Given the description of an element on the screen output the (x, y) to click on. 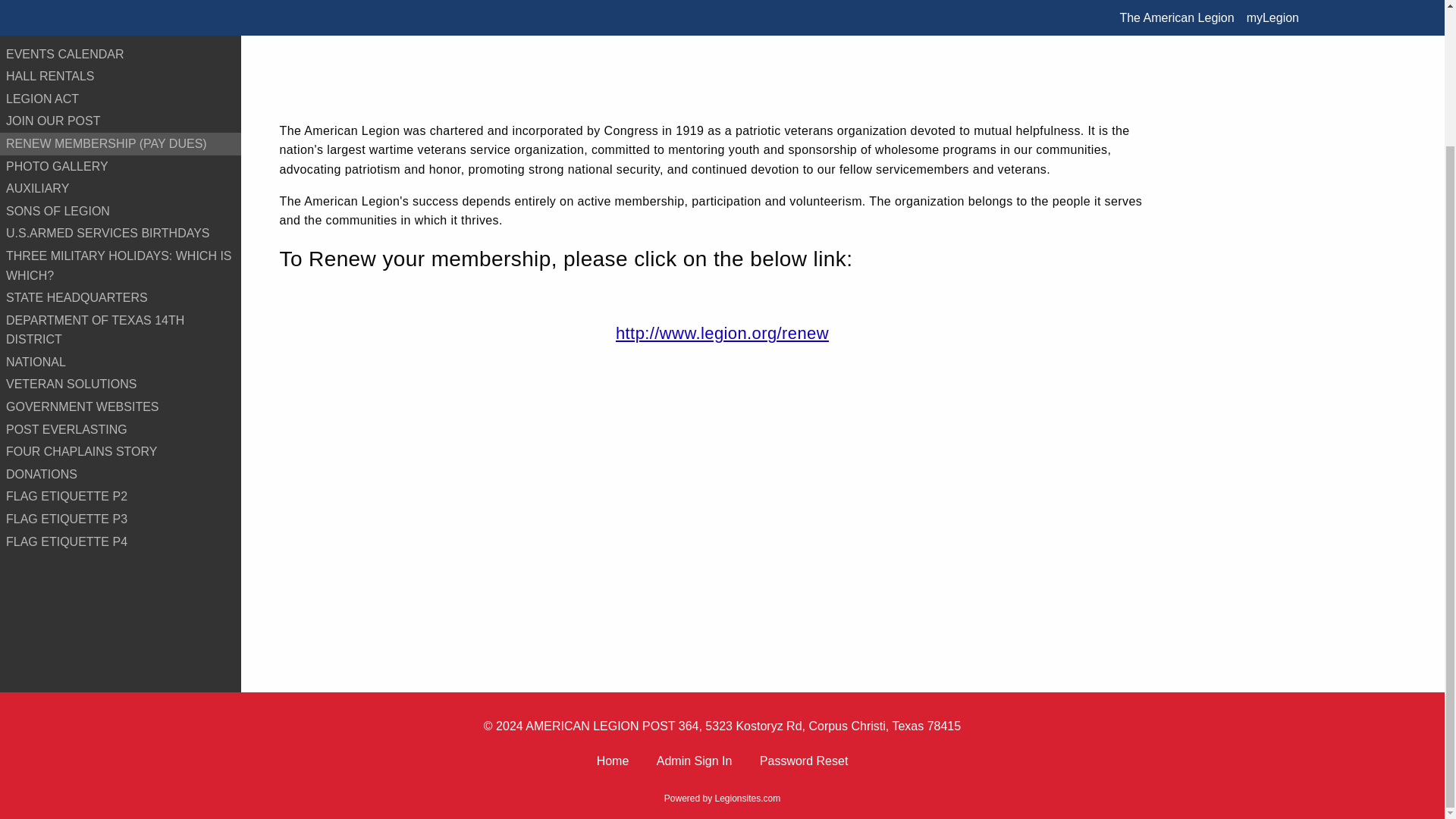
LEGION ACT (120, 98)
HOME (120, 31)
FLAG ETIQUETTE P3 (120, 518)
Legionsites.com (747, 798)
VETERAN SOLUTIONS (120, 384)
Legionsites.com (747, 798)
POST EVERLASTING (120, 429)
FLAG ETIQUETTE P2 (120, 496)
SONS OF LEGION (120, 210)
THREE MILITARY HOLIDAYS: WHICH IS WHICH? (120, 265)
JOIN OUR POST (120, 120)
EVENTS CALENDAR (120, 54)
PHOTO GALLERY (120, 166)
U.S.ARMED SERVICES BIRTHDAYS (120, 232)
DEPARTMENT OF TEXAS 14TH DISTRICT (120, 330)
